Given the description of an element on the screen output the (x, y) to click on. 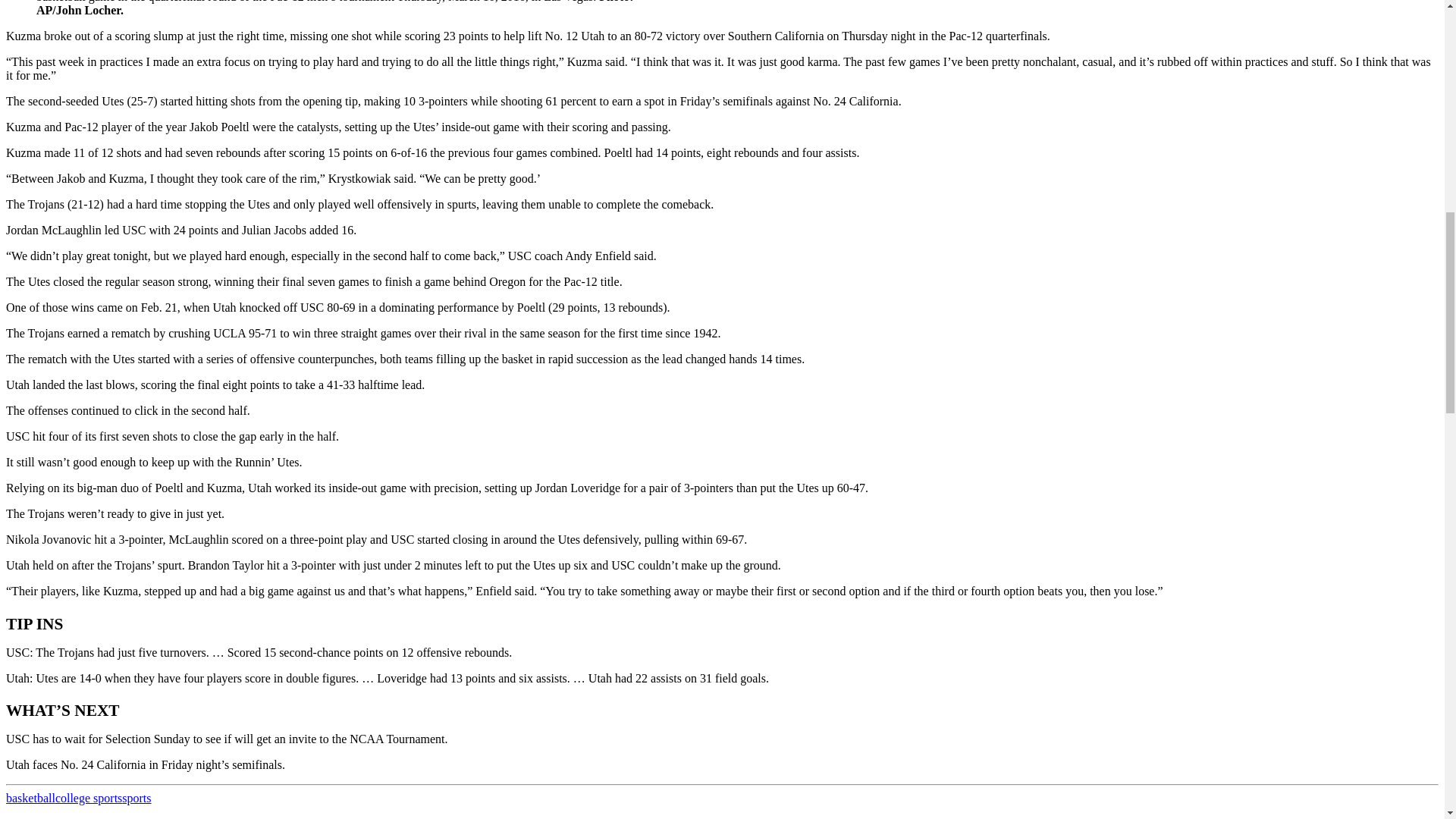
college sports (88, 797)
basketball (30, 797)
sports (136, 797)
